Given the description of an element on the screen output the (x, y) to click on. 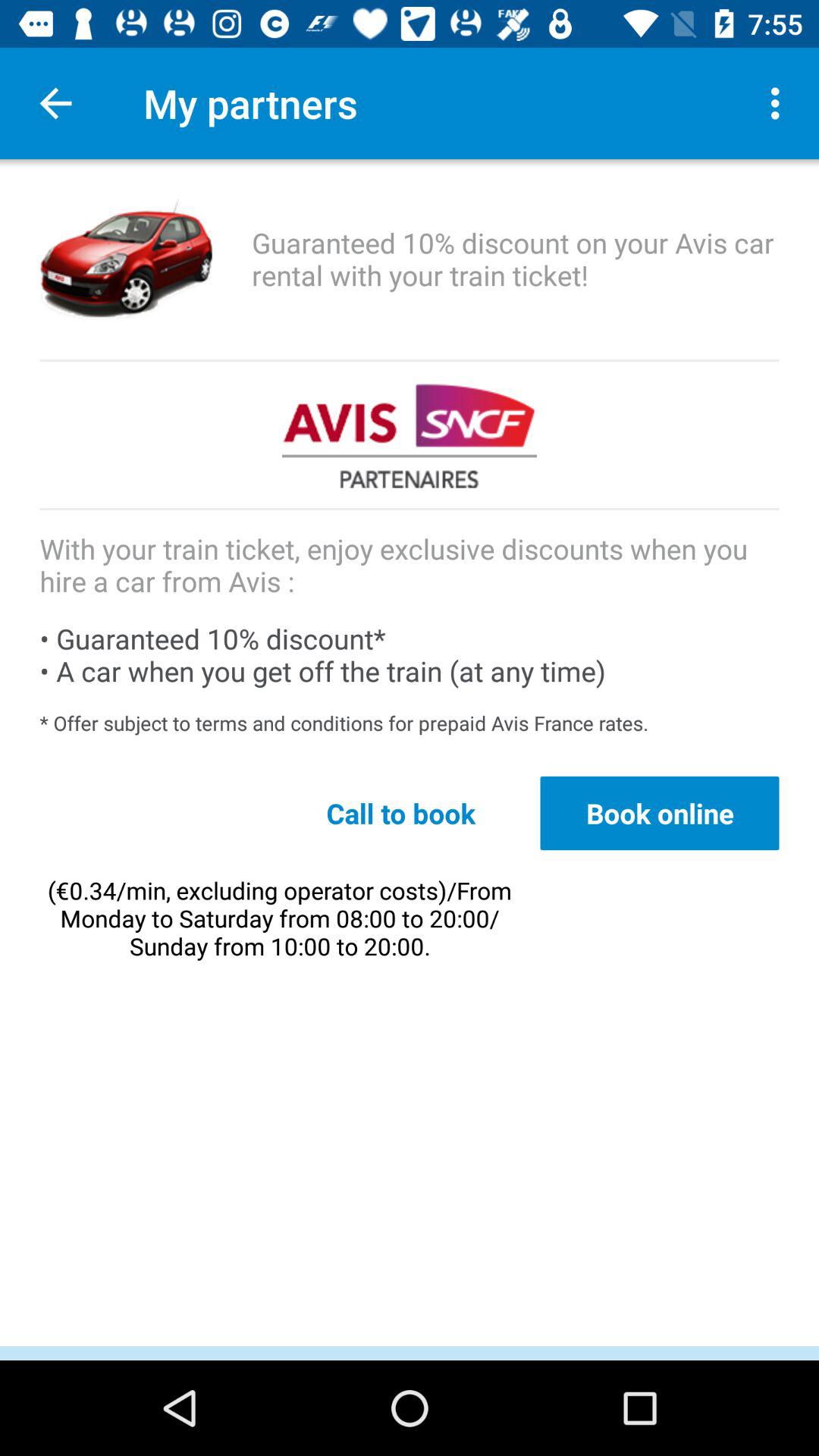
choose item to the left of the my partners icon (55, 103)
